Given the description of an element on the screen output the (x, y) to click on. 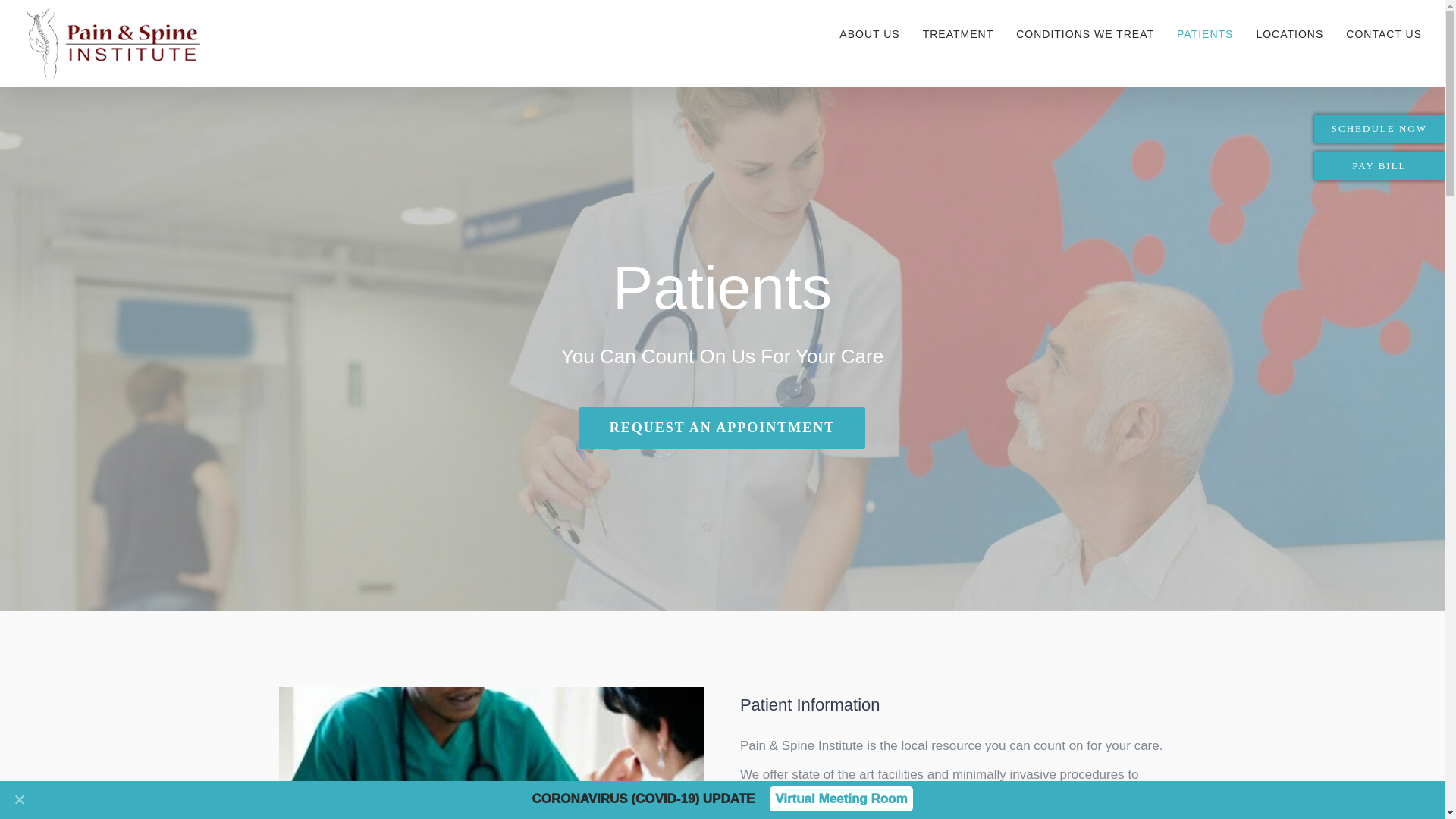
CONDITIONS WE TREAT (1085, 33)
PATIENTS (1204, 33)
TREATMENT (958, 33)
ABOUT US (869, 33)
Patient Speaking With Doctor (491, 753)
